Given the description of an element on the screen output the (x, y) to click on. 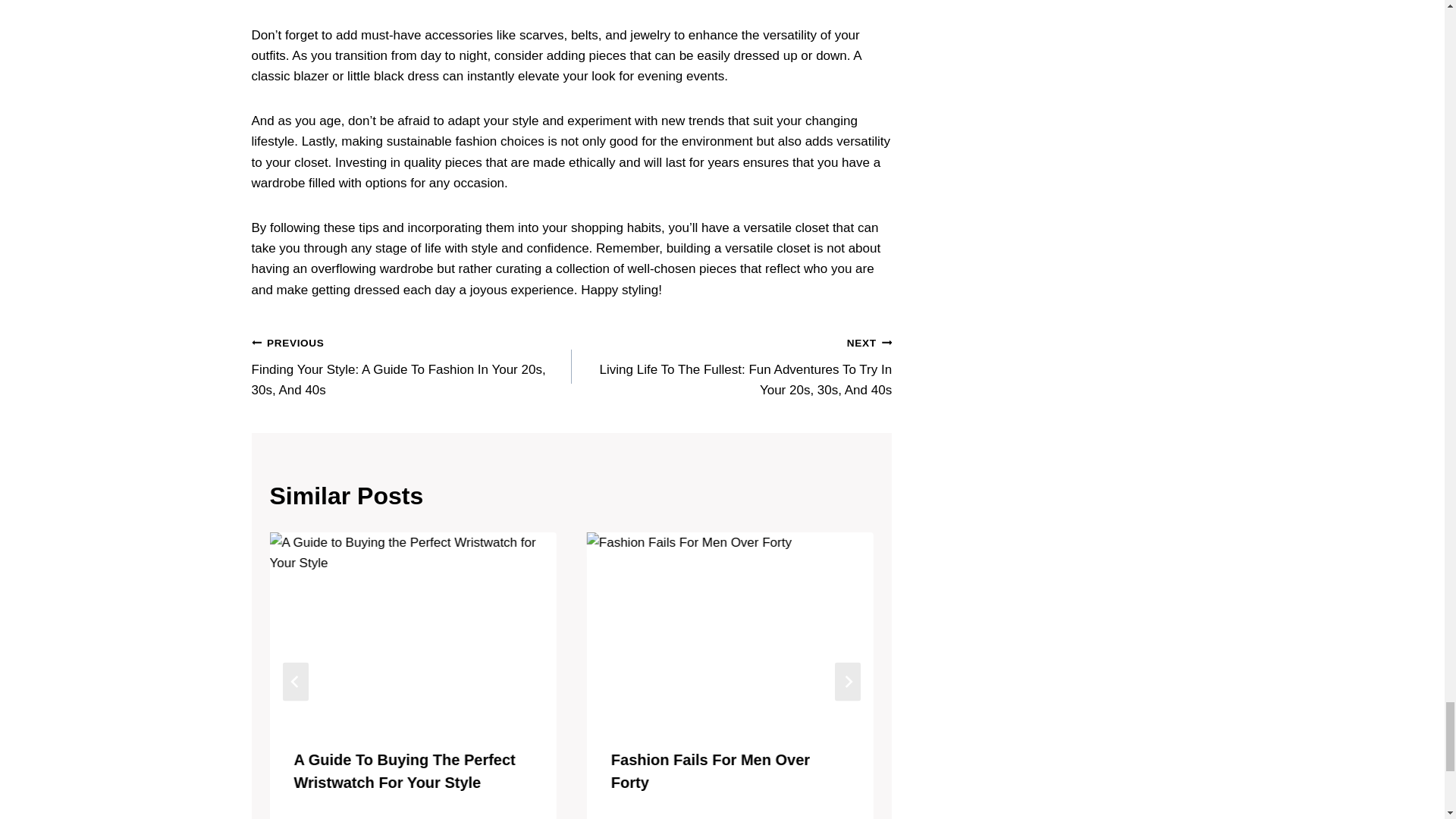
A Guide To Buying The Perfect Wristwatch For Your Style (404, 770)
